Given the description of an element on the screen output the (x, y) to click on. 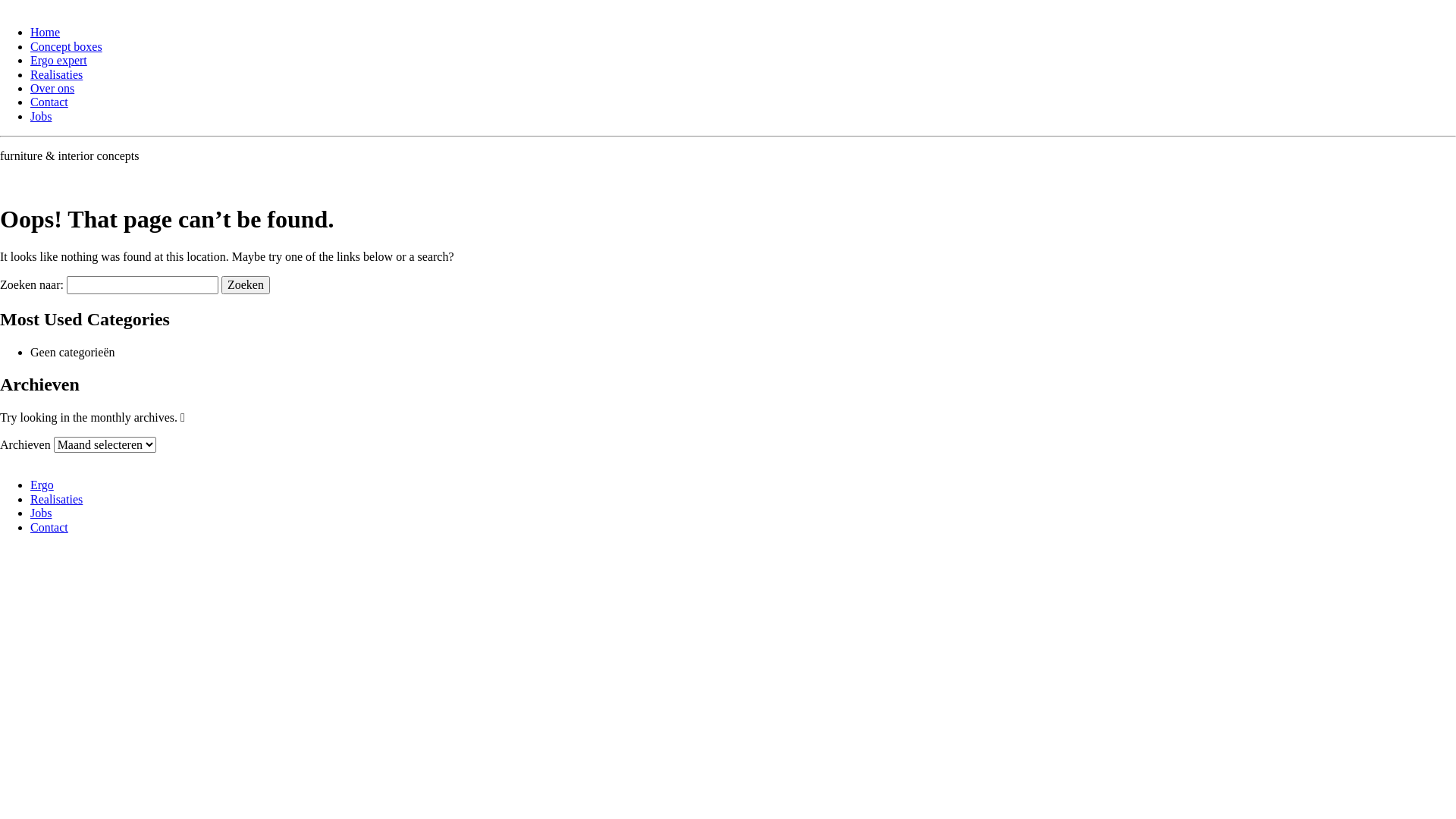
Ergo expert Element type: text (58, 59)
Jobs Element type: text (40, 115)
Realisaties Element type: text (56, 498)
Ergo Element type: text (41, 484)
Contact Element type: text (49, 101)
Jobs Element type: text (40, 512)
Over ons Element type: text (52, 87)
Zoeken Element type: text (245, 285)
Home Element type: text (44, 31)
Realisaties Element type: text (56, 74)
Contact Element type: text (49, 526)
Concept boxes Element type: text (66, 46)
